Given the description of an element on the screen output the (x, y) to click on. 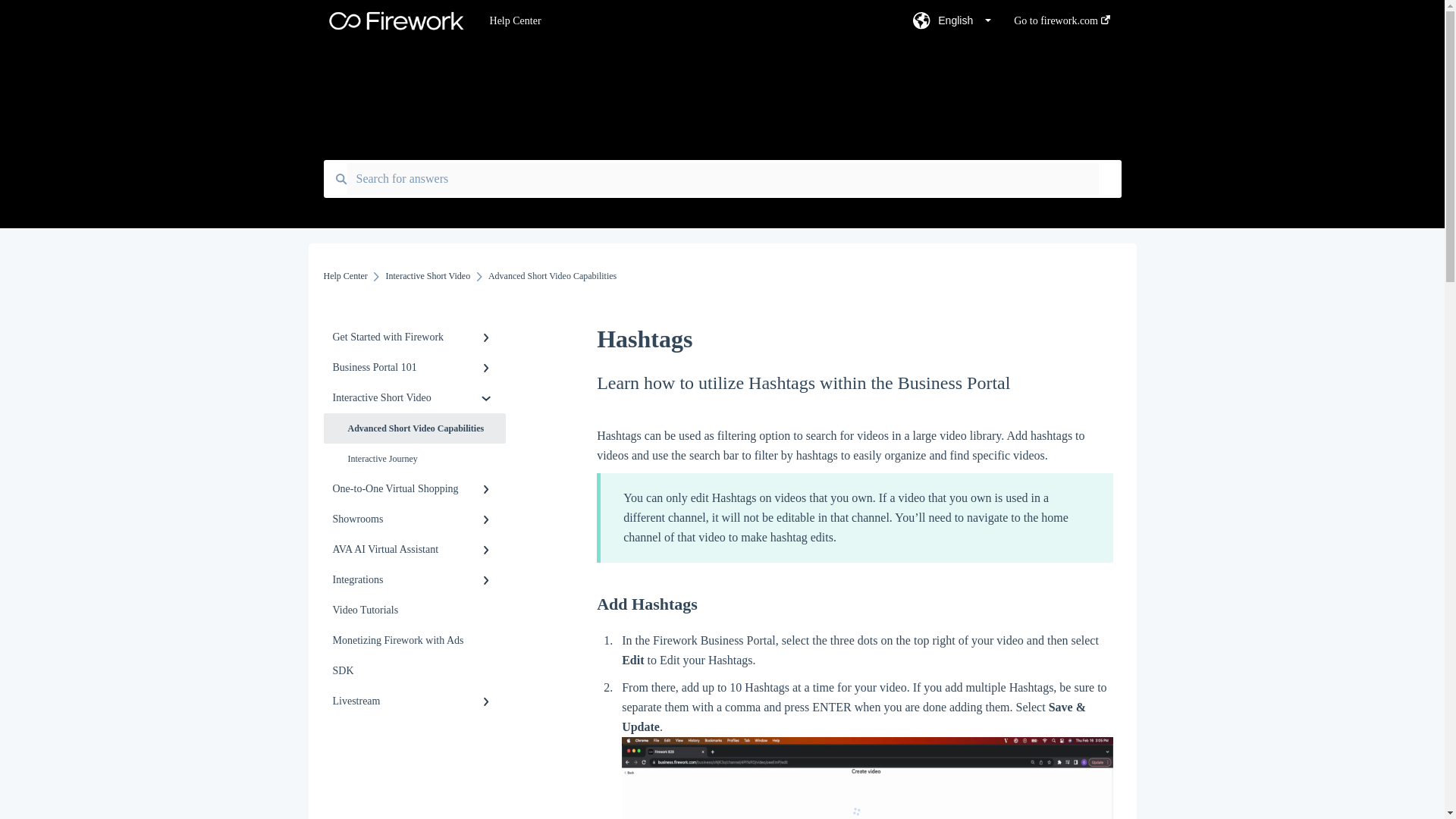
English (951, 25)
Help Center (678, 21)
Go to firework.com (1061, 25)
